Given the description of an element on the screen output the (x, y) to click on. 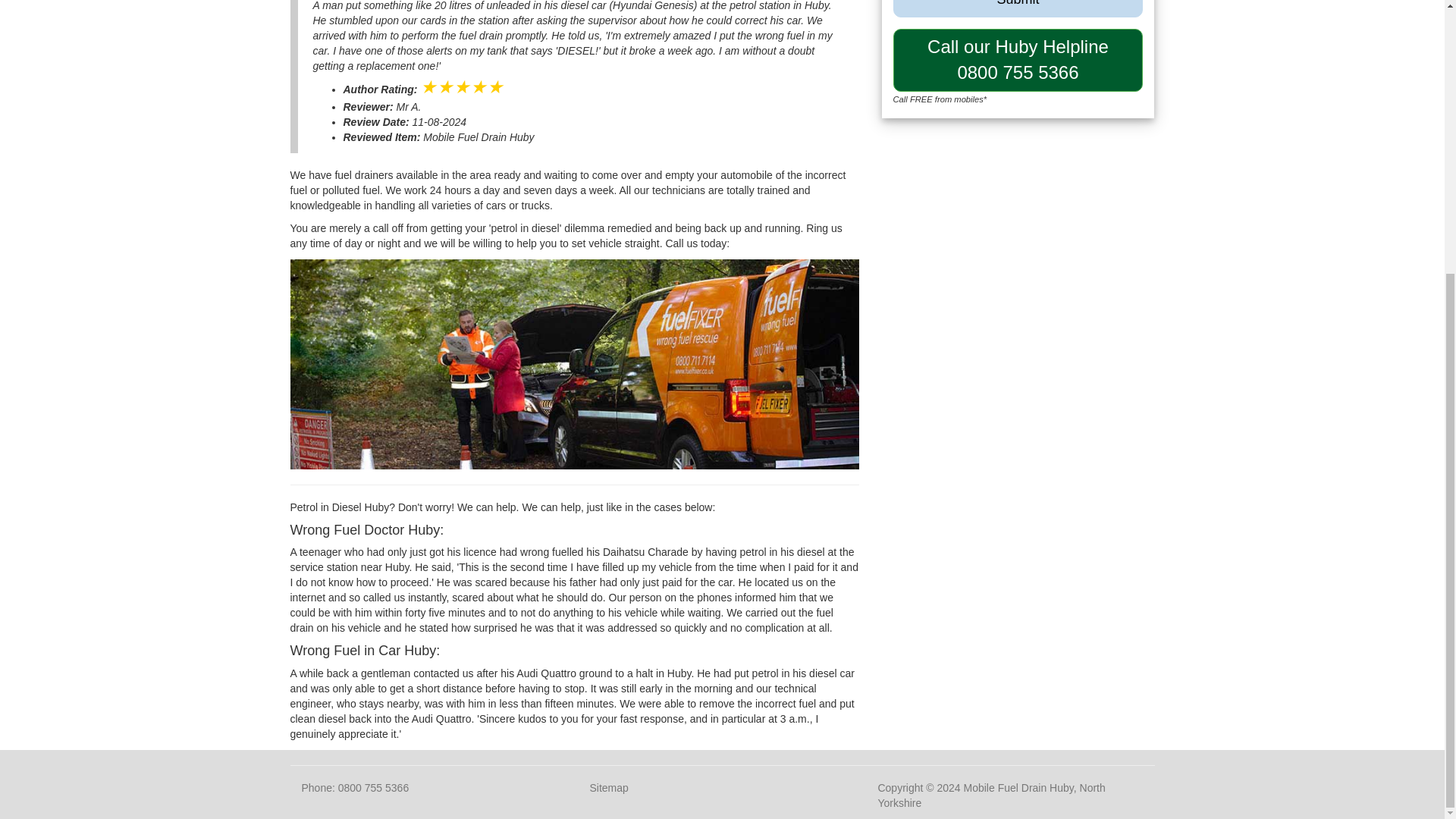
Sitemap (1017, 59)
Phone: 0800 755 5366 (608, 787)
Submit (355, 787)
